Given the description of an element on the screen output the (x, y) to click on. 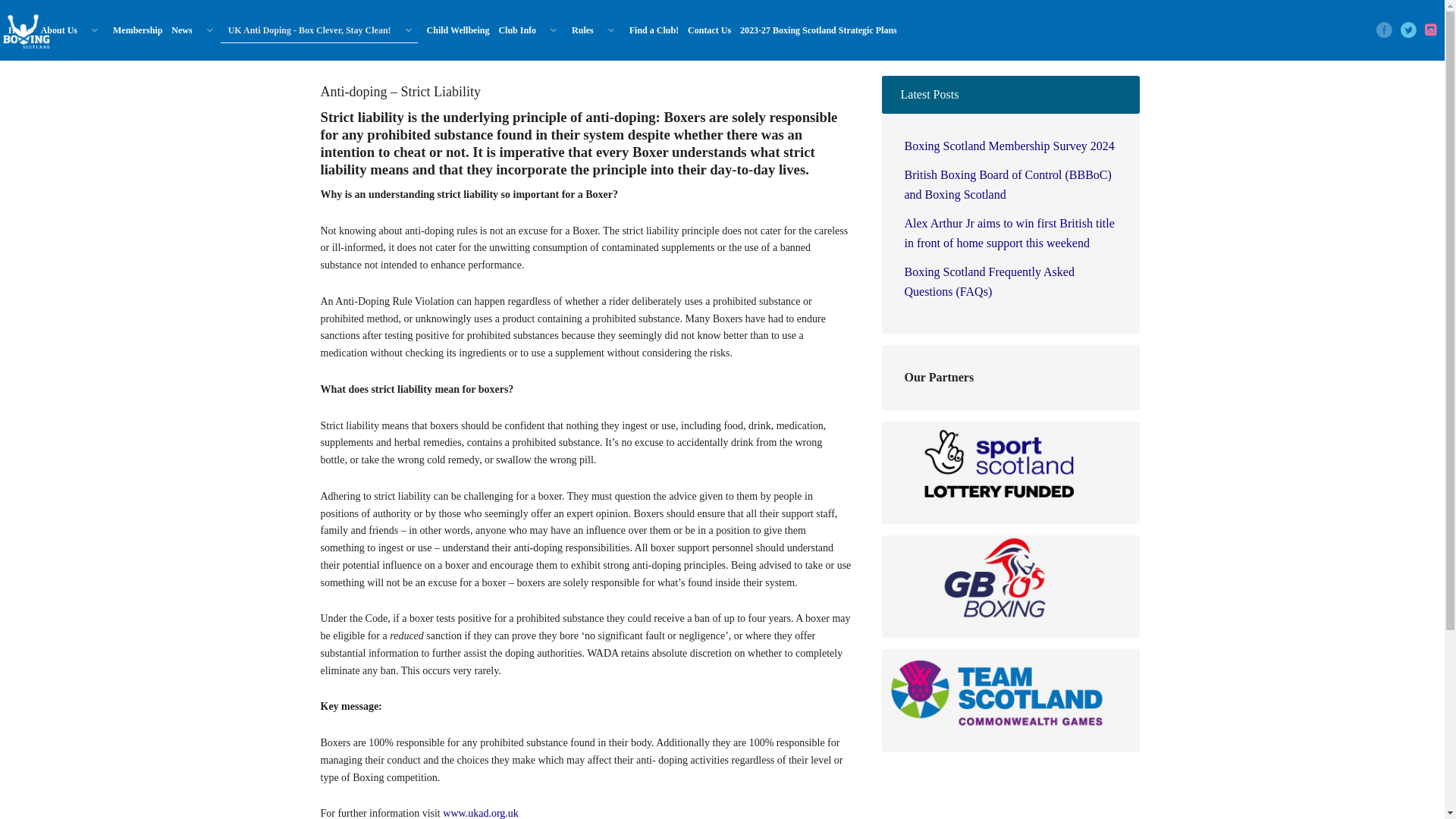
About Us (68, 30)
News (191, 30)
Rules (592, 30)
Membership (133, 30)
Find a Club! (650, 30)
Club Info (526, 30)
UK Anti Doping - Box Clever, Stay Clean! (319, 30)
Child Wellbeing (454, 30)
2023-27 Boxing Scotland Strategic Plans (815, 30)
